Given the description of an element on the screen output the (x, y) to click on. 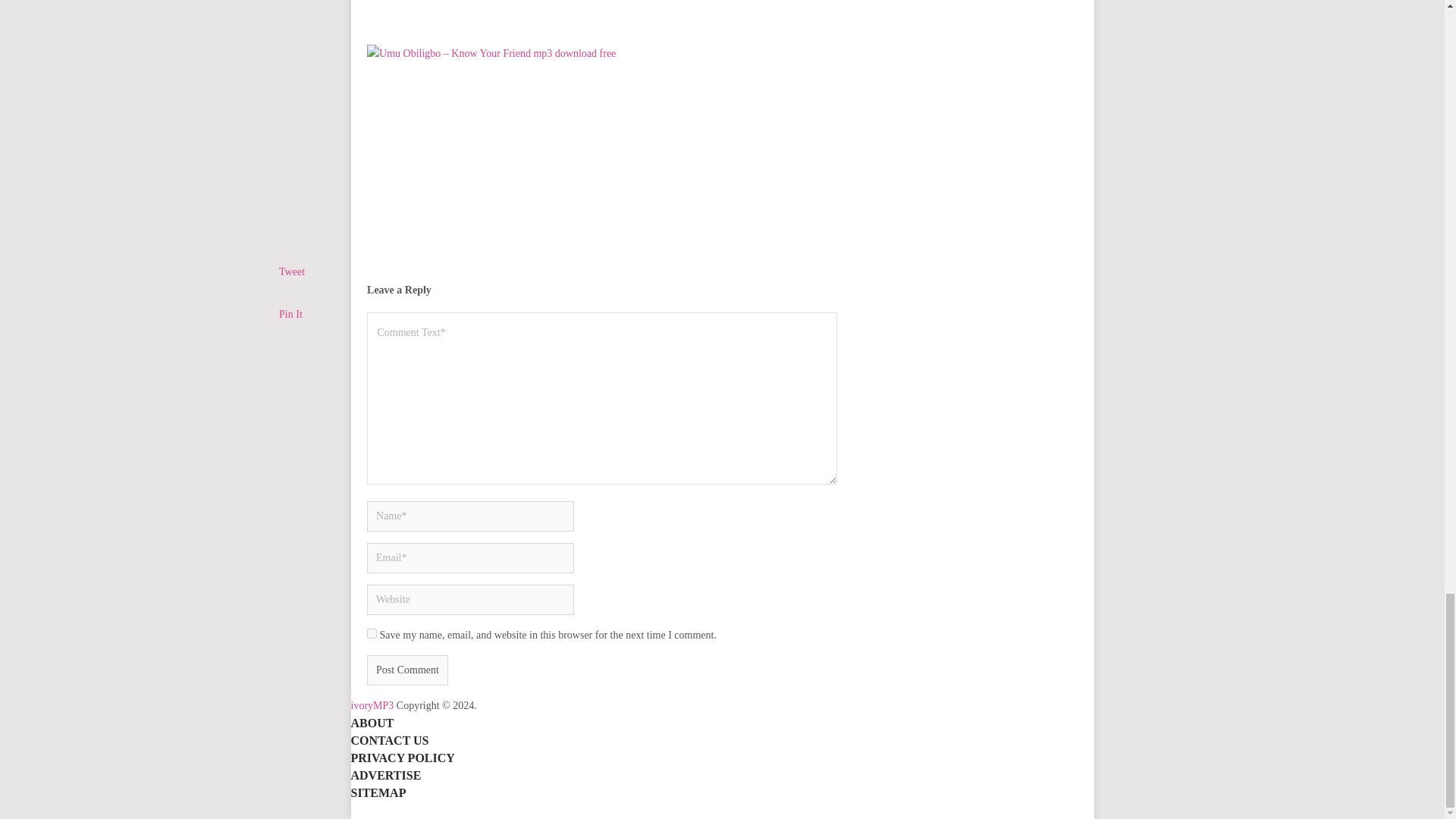
Post Comment (407, 670)
yes (371, 633)
